Given the description of an element on the screen output the (x, y) to click on. 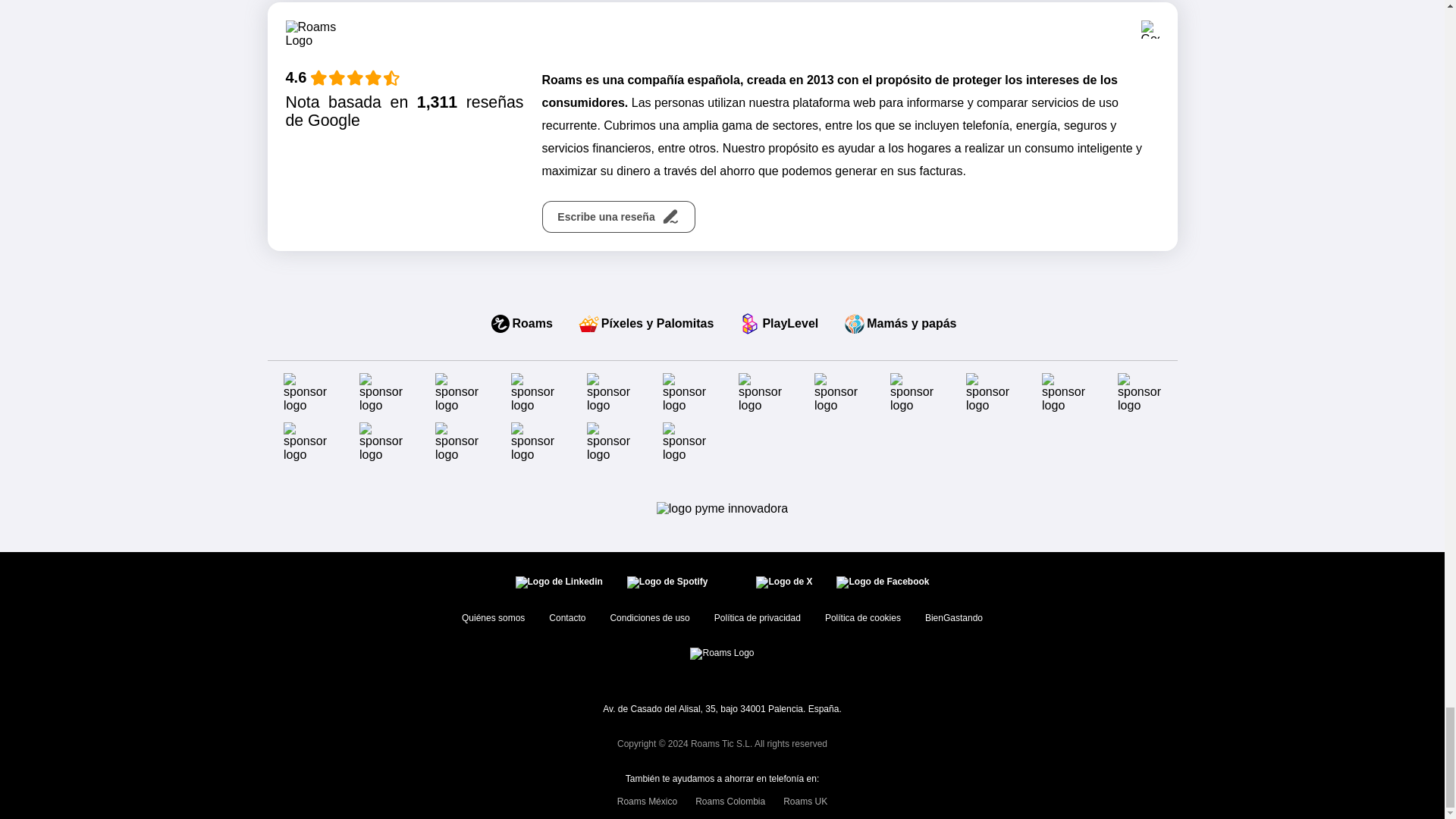
Roams Logo (315, 35)
Google Logo (1149, 29)
